Given the description of an element on the screen output the (x, y) to click on. 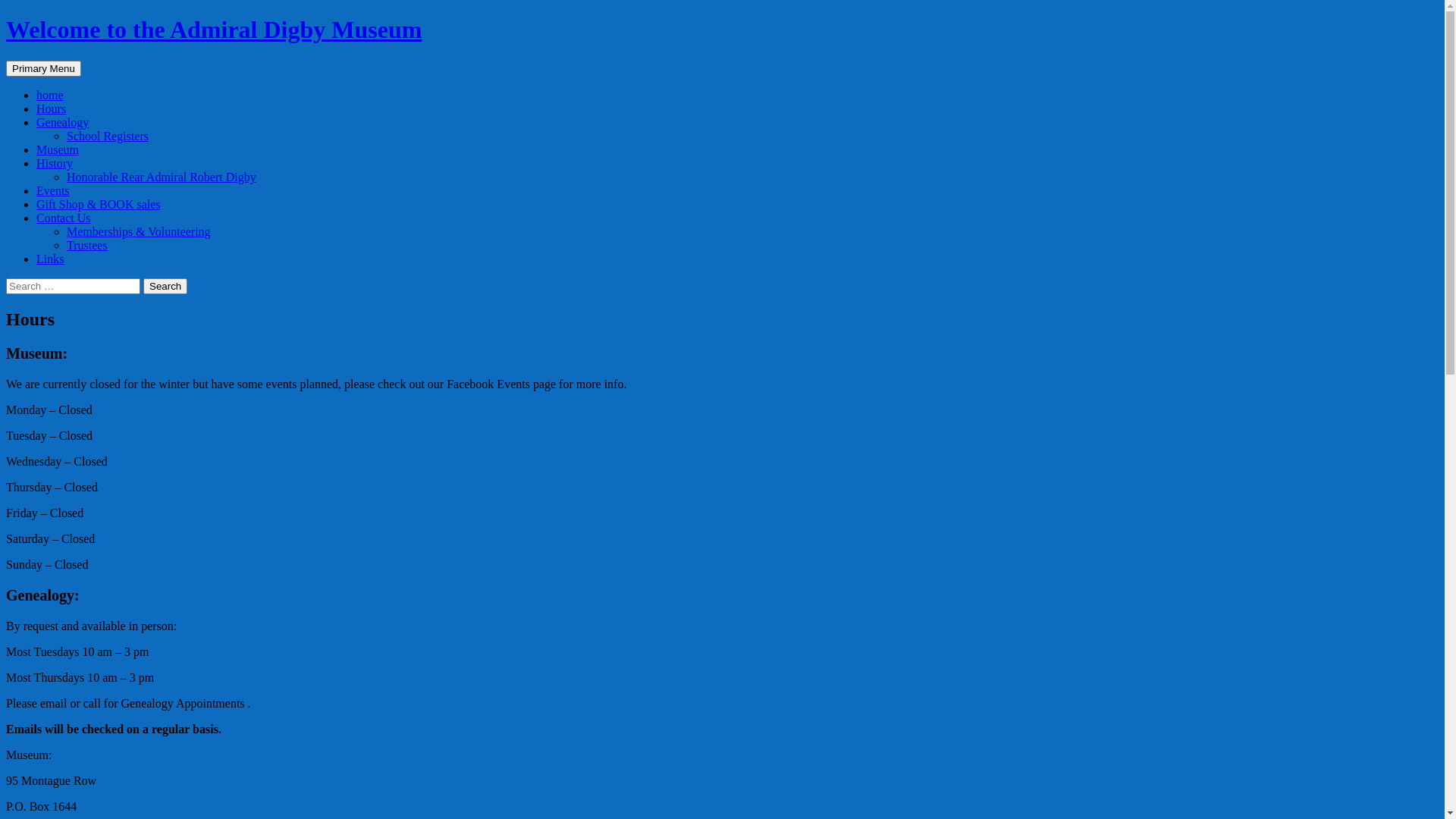
History Element type: text (54, 162)
Search Element type: text (165, 286)
Skip to content Element type: text (80, 59)
Events Element type: text (52, 190)
School Registers Element type: text (107, 135)
Primary Menu Element type: text (43, 68)
Honorable Rear Admiral Robert Digby Element type: text (161, 176)
home Element type: text (49, 94)
Memberships & Volunteering Element type: text (138, 231)
Genealogy Element type: text (62, 122)
Contact Us Element type: text (63, 217)
Museum Element type: text (57, 149)
Hours Element type: text (50, 108)
Trustees Element type: text (86, 244)
Welcome to the Admiral Digby Museum Element type: text (213, 29)
Links Element type: text (49, 258)
Search Element type: text (5, 59)
Gift Shop & BOOK sales Element type: text (98, 203)
